Given the description of an element on the screen output the (x, y) to click on. 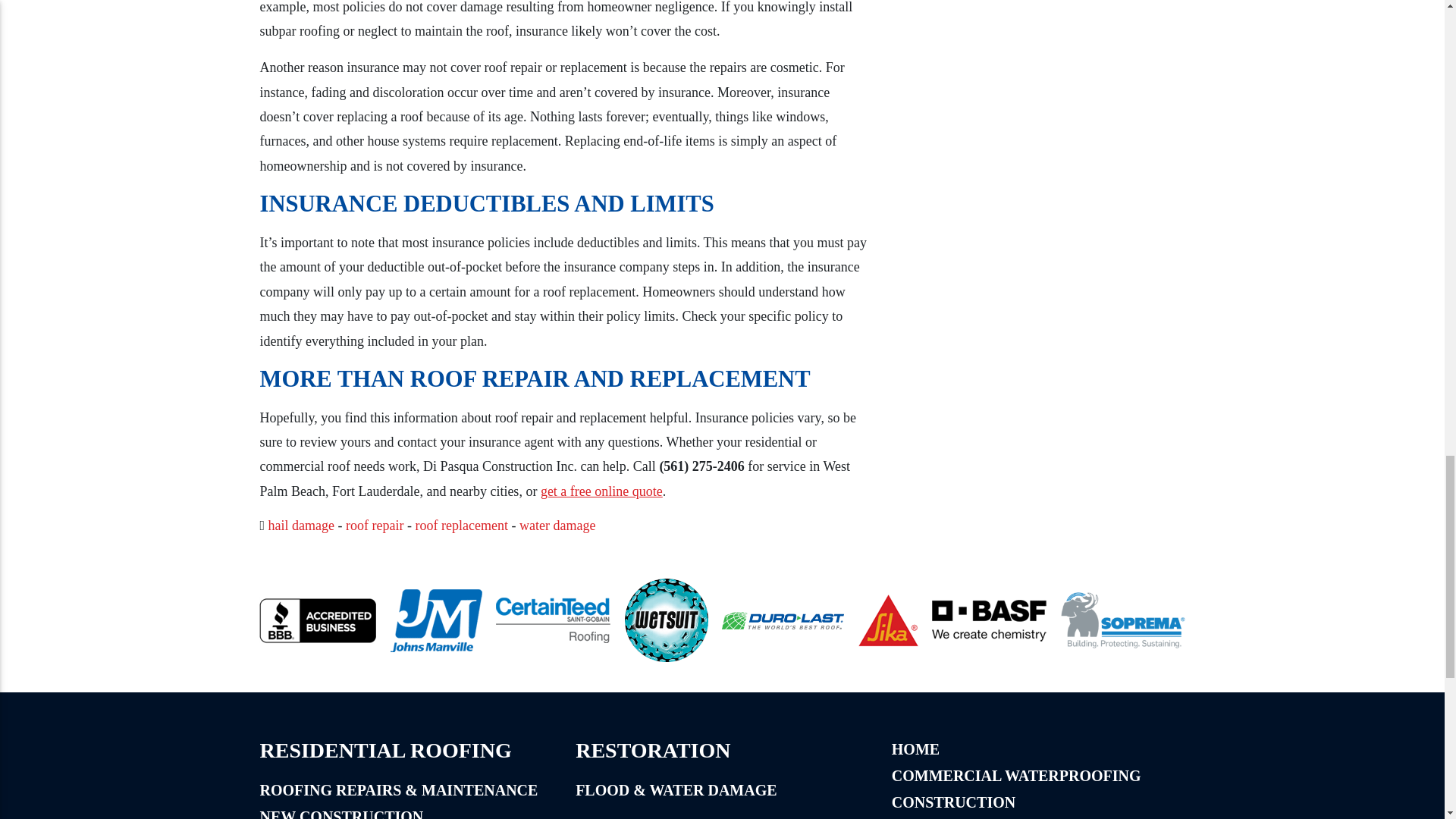
hail damage (300, 525)
roof replacement (461, 525)
roof repair (374, 525)
water damage (557, 525)
get a free online quote (601, 491)
